Given the description of an element on the screen output the (x, y) to click on. 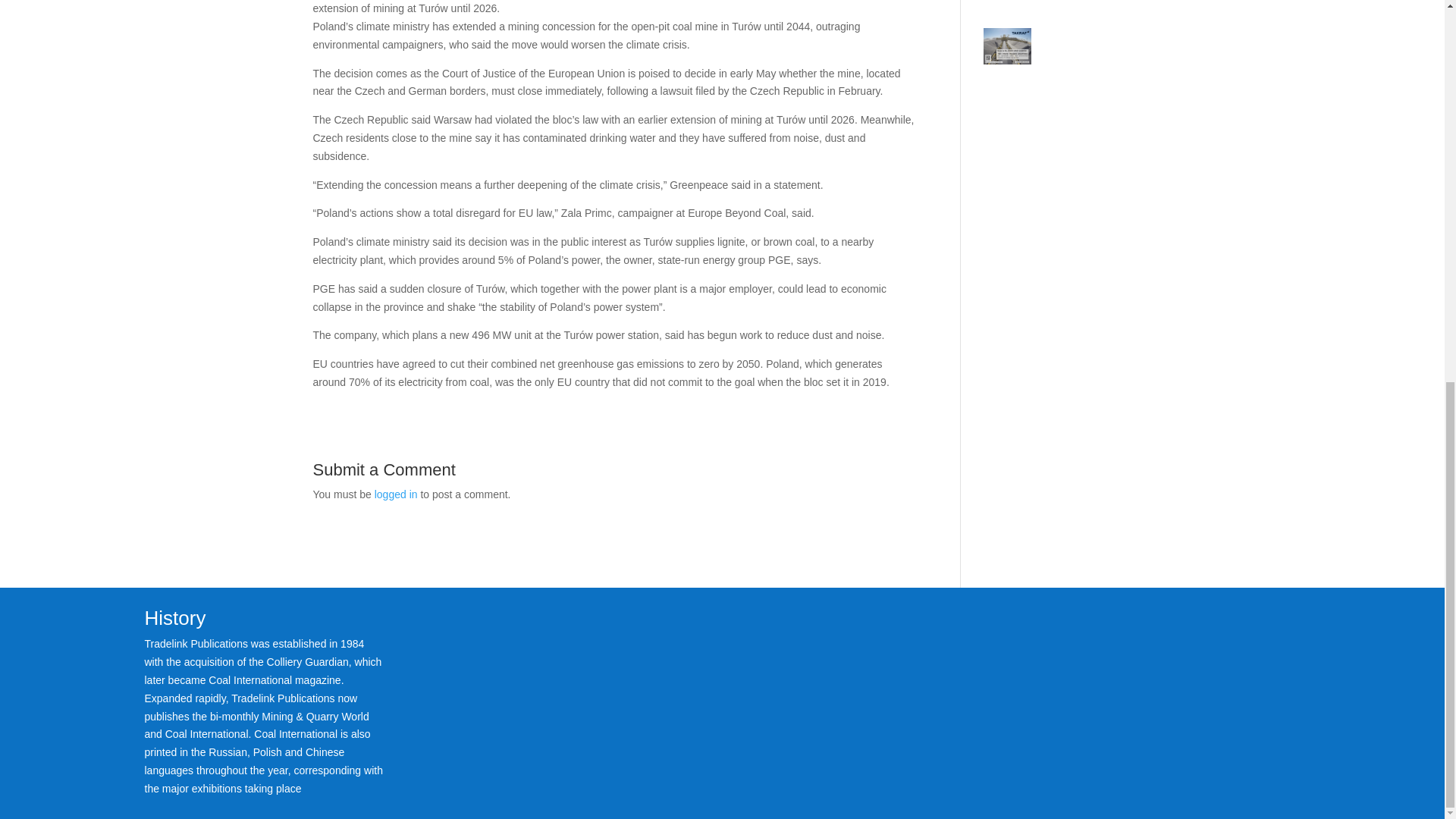
logged in (395, 494)
